Given the description of an element on the screen output the (x, y) to click on. 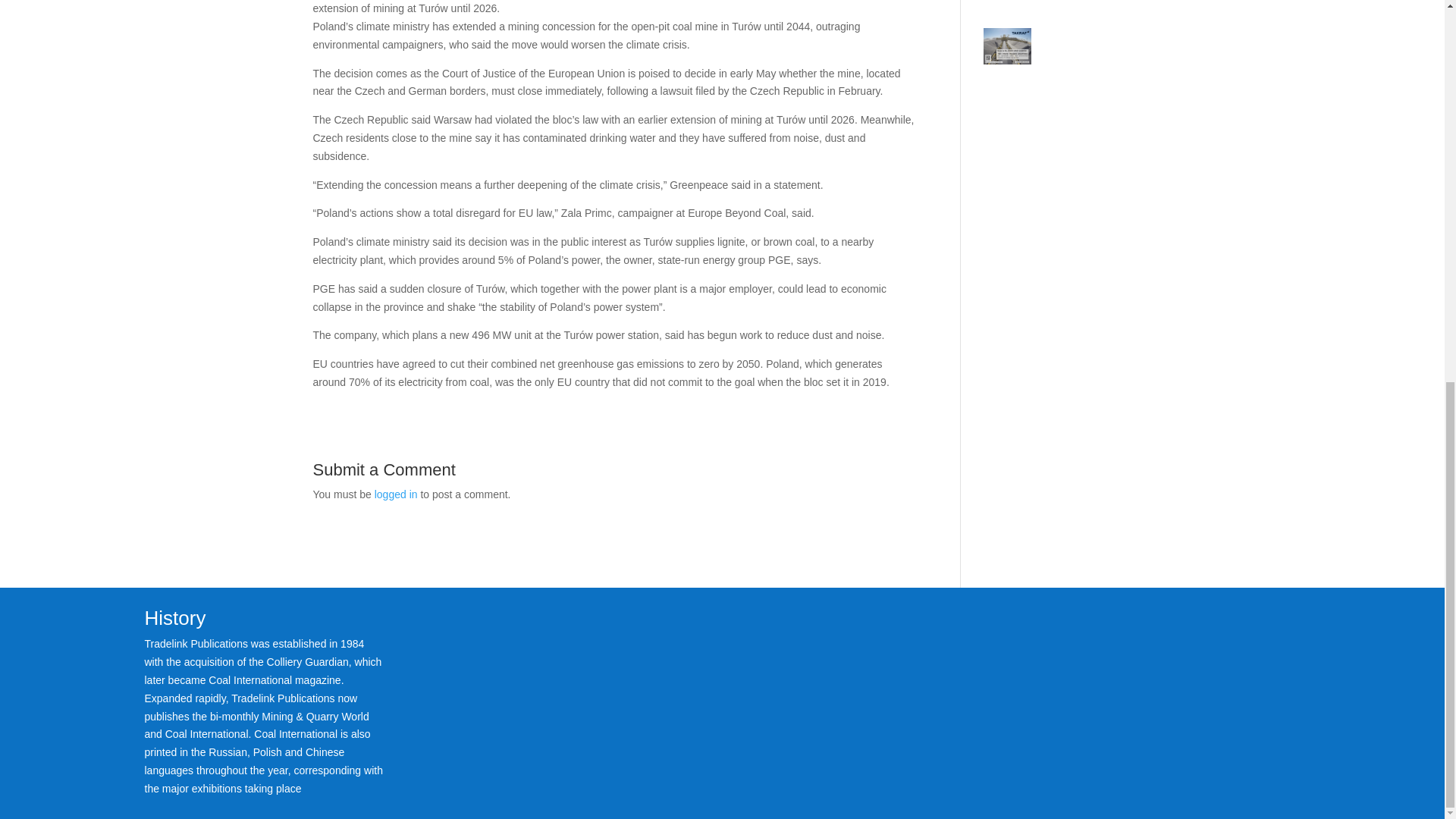
logged in (395, 494)
